Given the description of an element on the screen output the (x, y) to click on. 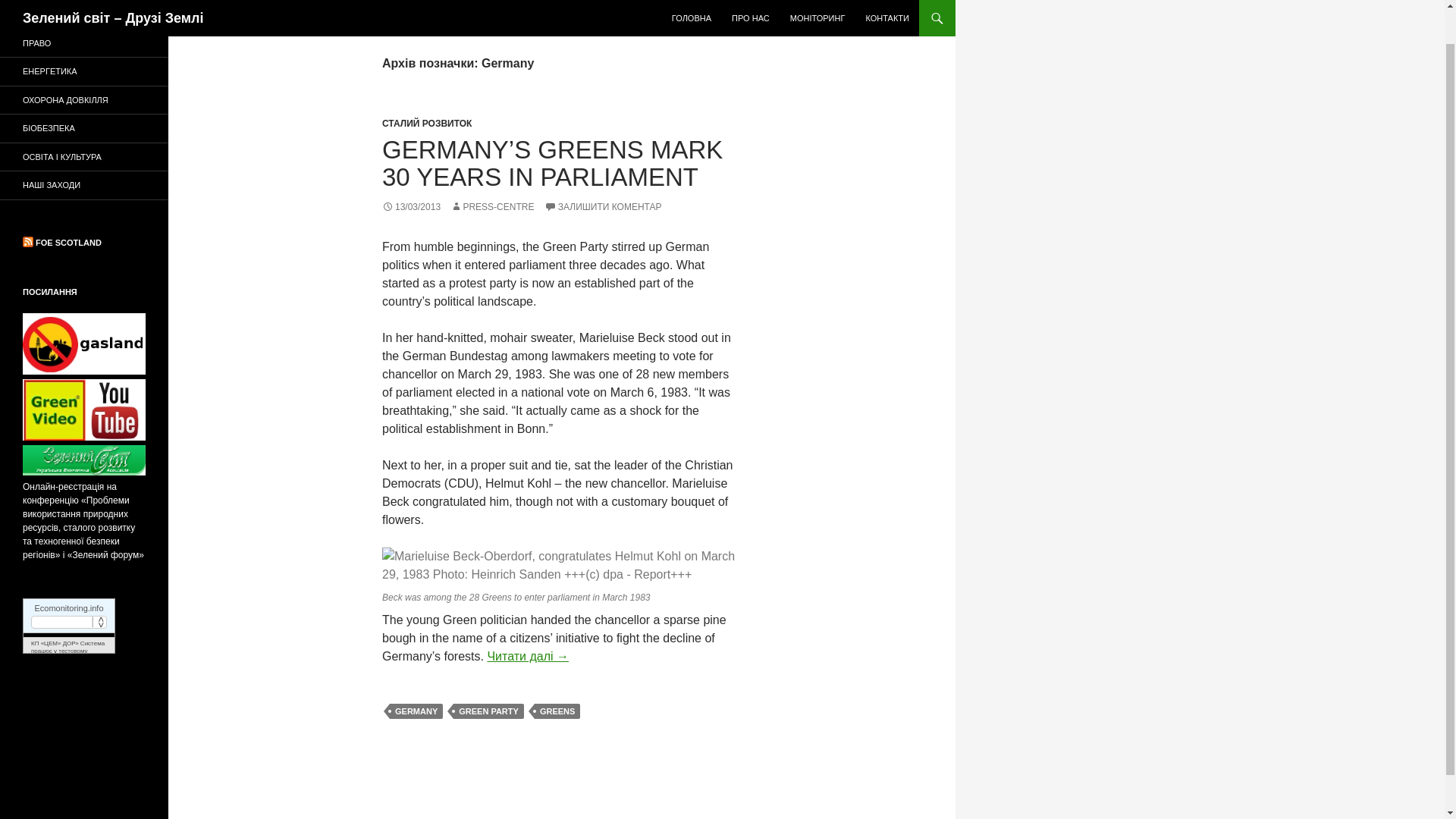
Ecomonitoring.info (68, 607)
GERMANY (416, 711)
FOE SCOTLAND (67, 242)
GREENS (556, 711)
GREEN PARTY (488, 711)
PRESS-CENTRE (491, 206)
